Given the description of an element on the screen output the (x, y) to click on. 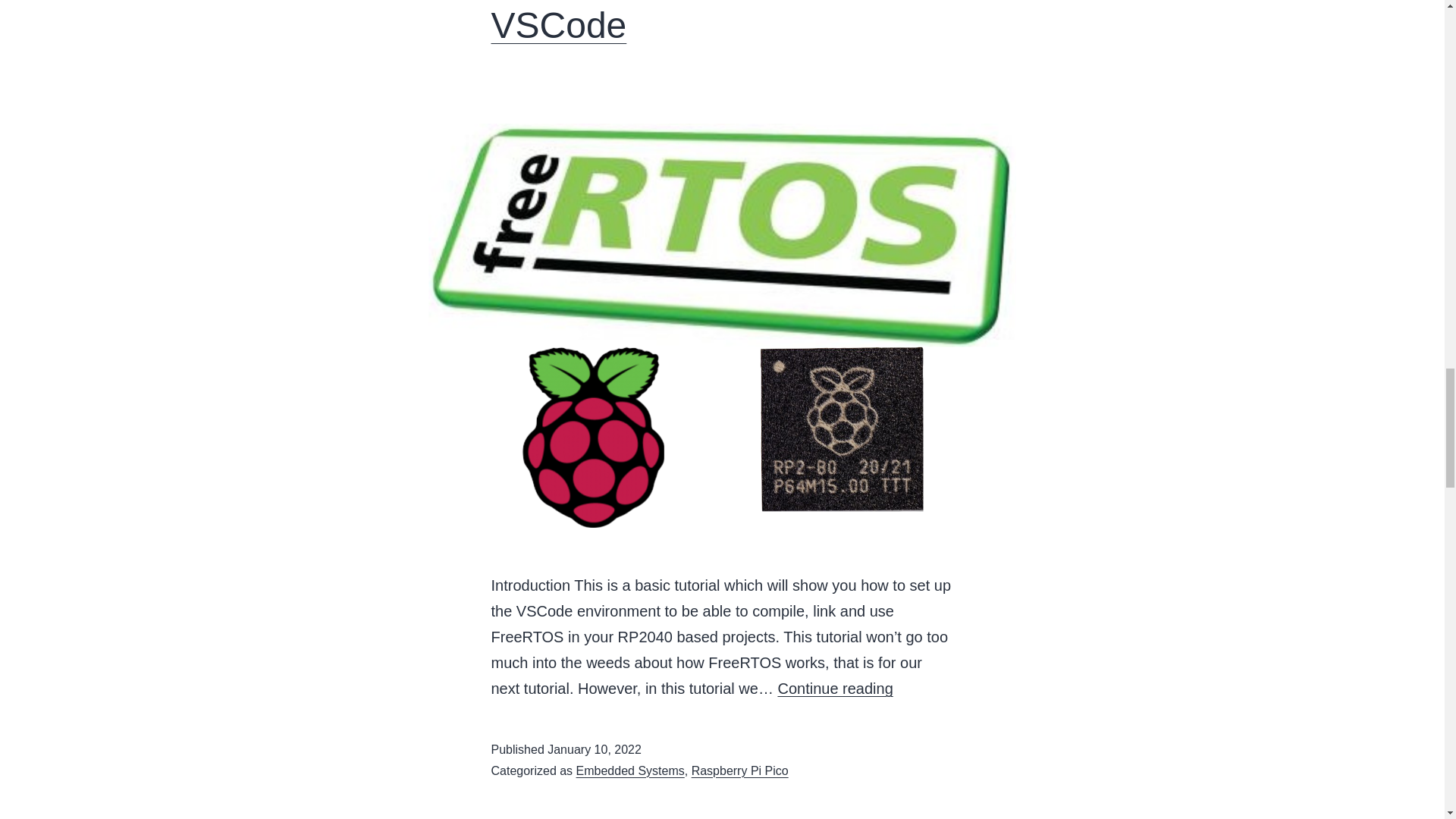
Embedded Systems (630, 770)
Raspberry Pi Pico (740, 770)
